Given the description of an element on the screen output the (x, y) to click on. 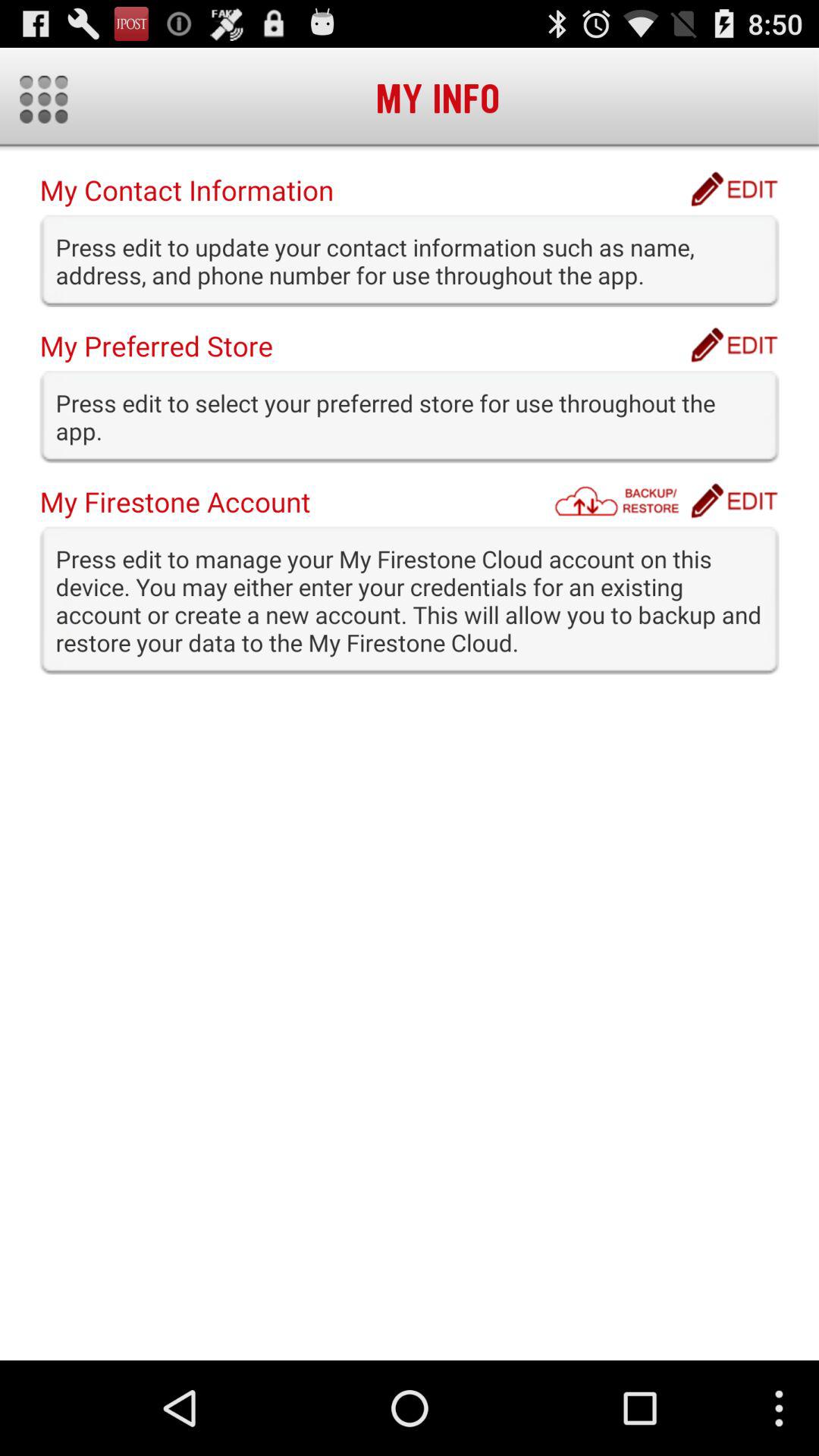
launch item next to my info item (43, 99)
